Given the description of an element on the screen output the (x, y) to click on. 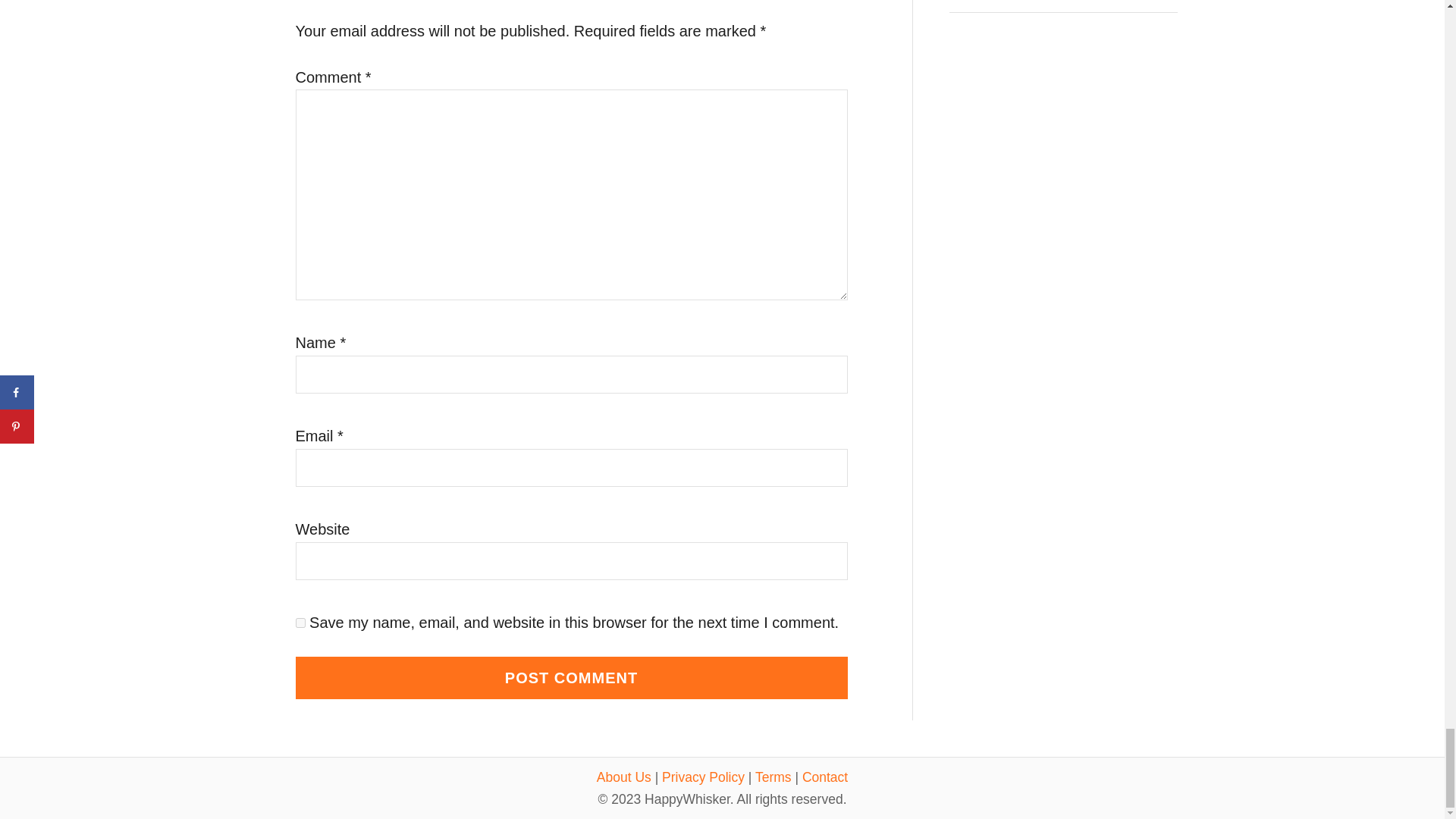
Privacy Policy (703, 776)
Terms (773, 776)
Post Comment (571, 678)
Contact (824, 776)
Post Comment (571, 678)
yes (300, 623)
About Us (623, 776)
